Given the description of an element on the screen output the (x, y) to click on. 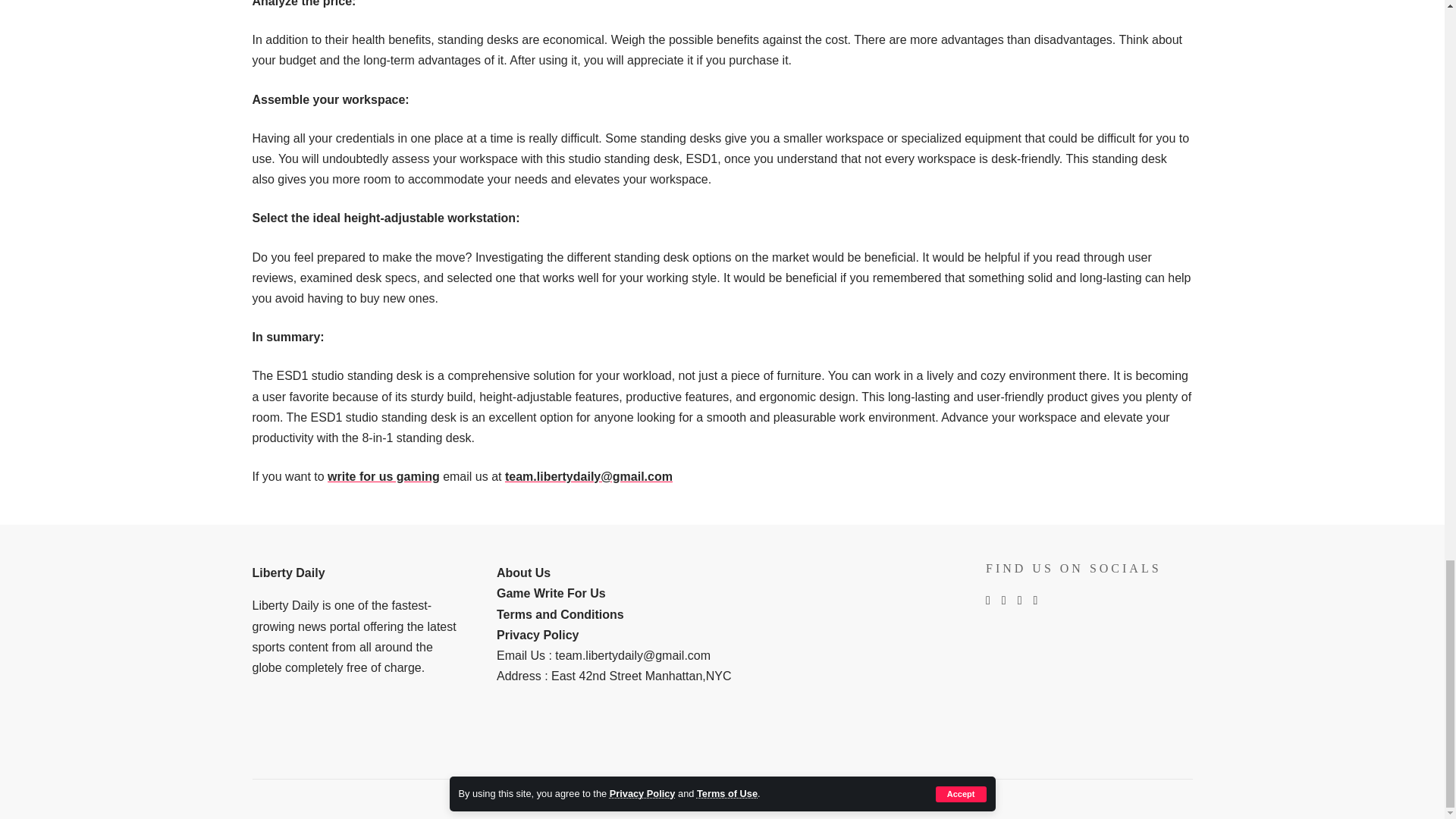
Liberty Daily (287, 572)
About Us (523, 572)
write for us gaming (383, 476)
